Given the description of an element on the screen output the (x, y) to click on. 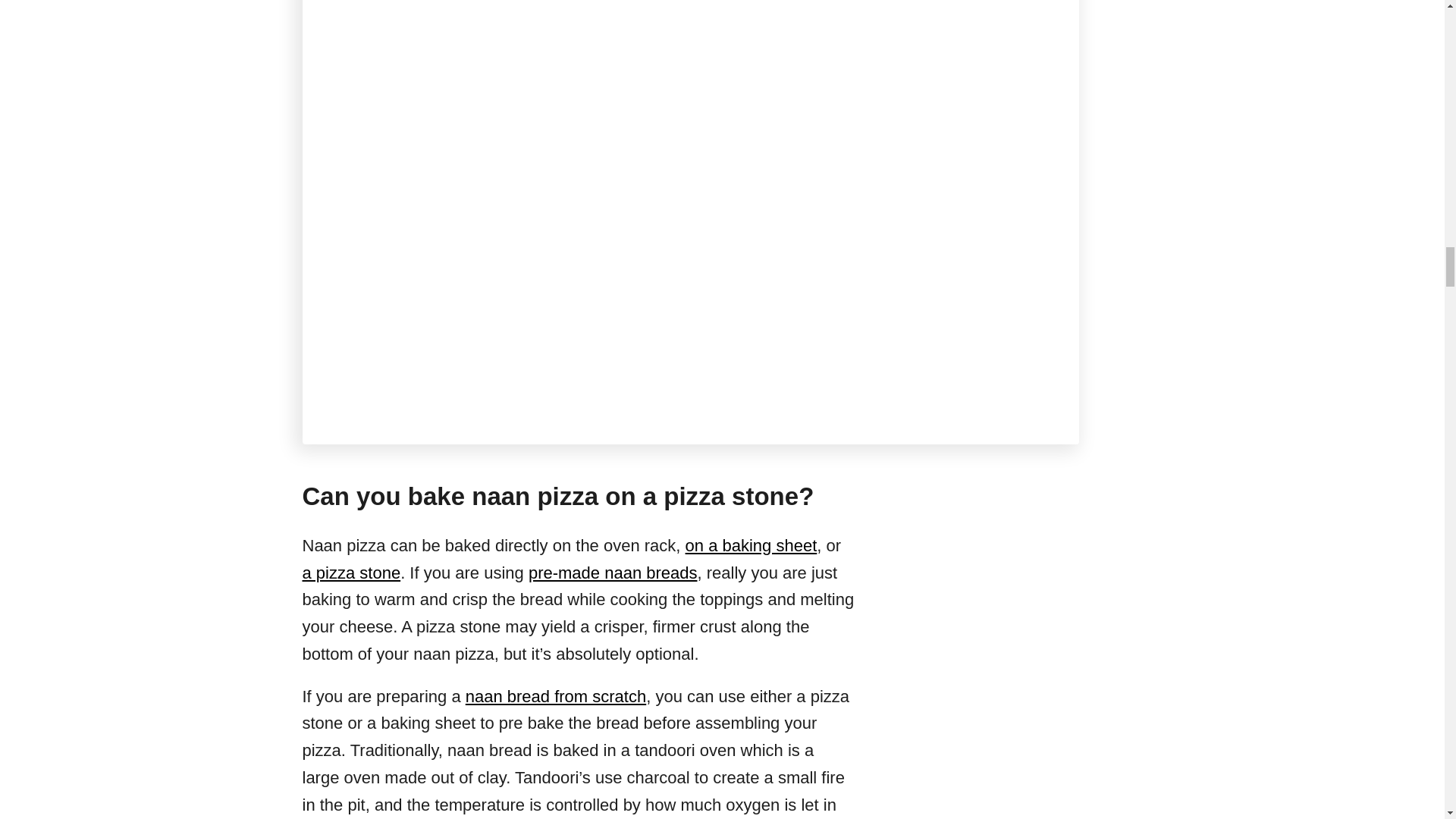
a pizza stone (350, 572)
pre-made naan breads (612, 572)
on a baking sheet (750, 545)
naan bread from scratch (555, 696)
